Given the description of an element on the screen output the (x, y) to click on. 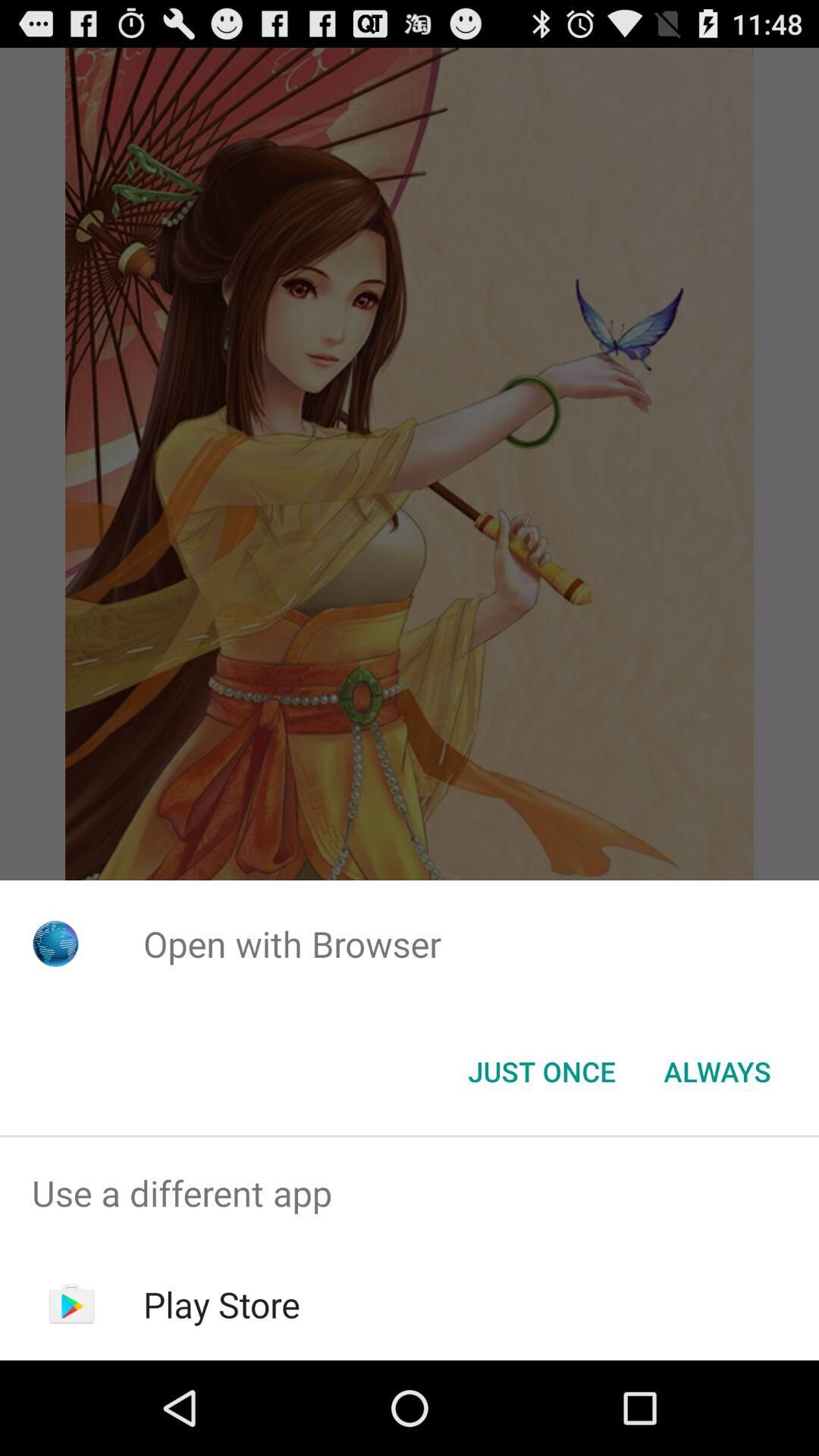
launch always at the bottom right corner (717, 1071)
